Given the description of an element on the screen output the (x, y) to click on. 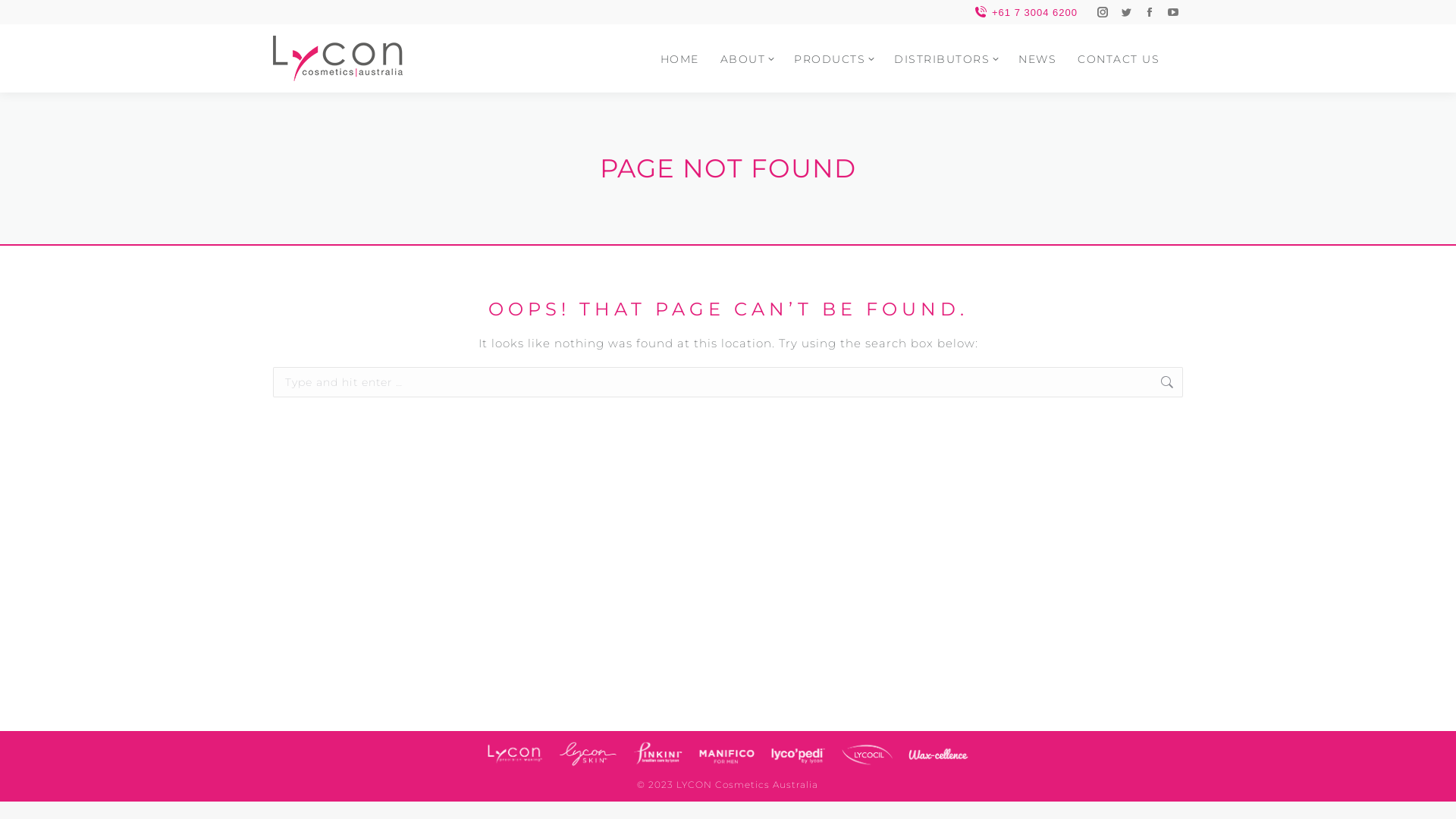
MANifico Element type: hover (726, 753)
lyco'pedi Element type: hover (797, 753)
ABOUT Element type: text (746, 46)
DISTRIBUTORS Element type: text (945, 46)
LYCOcil Element type: hover (866, 753)
HOME Element type: text (678, 46)
CONTACT US Element type: text (1118, 46)
Twitter page opens in new window Element type: text (1125, 11)
LYCON Element type: hover (514, 753)
Go! Element type: text (1208, 379)
NEWS Element type: text (1037, 46)
YouTube page opens in new window Element type: text (1173, 11)
Wax-cellence Element type: hover (938, 753)
Pinkini Element type: hover (657, 753)
PRODUCTS Element type: text (832, 46)
Instagram page opens in new window Element type: text (1102, 11)
+61 7 3004 6200 Element type: text (1024, 11)
Go! Element type: text (25, 12)
Facebook page opens in new window Element type: text (1149, 11)
LYCON Skin Element type: hover (588, 753)
